Given the description of an element on the screen output the (x, y) to click on. 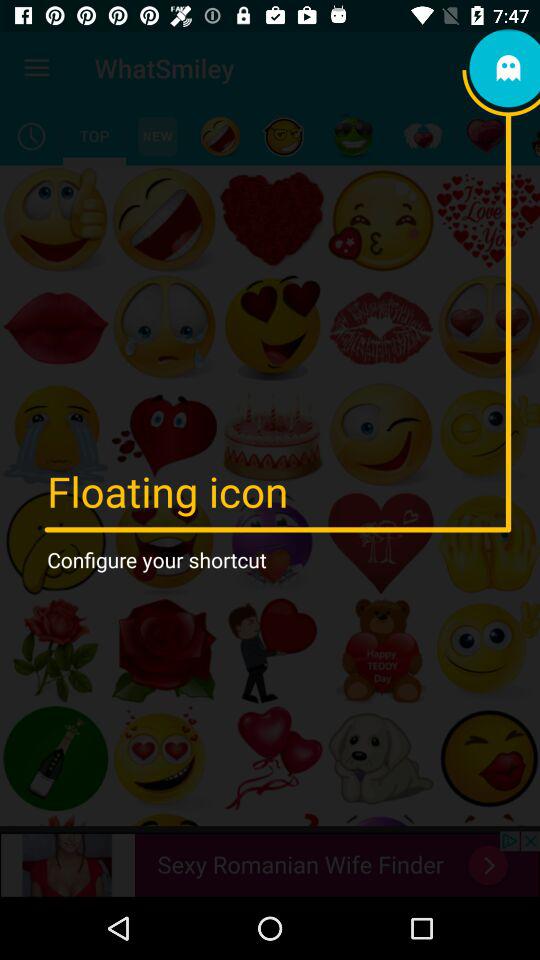
switch smiley option (283, 136)
